Given the description of an element on the screen output the (x, y) to click on. 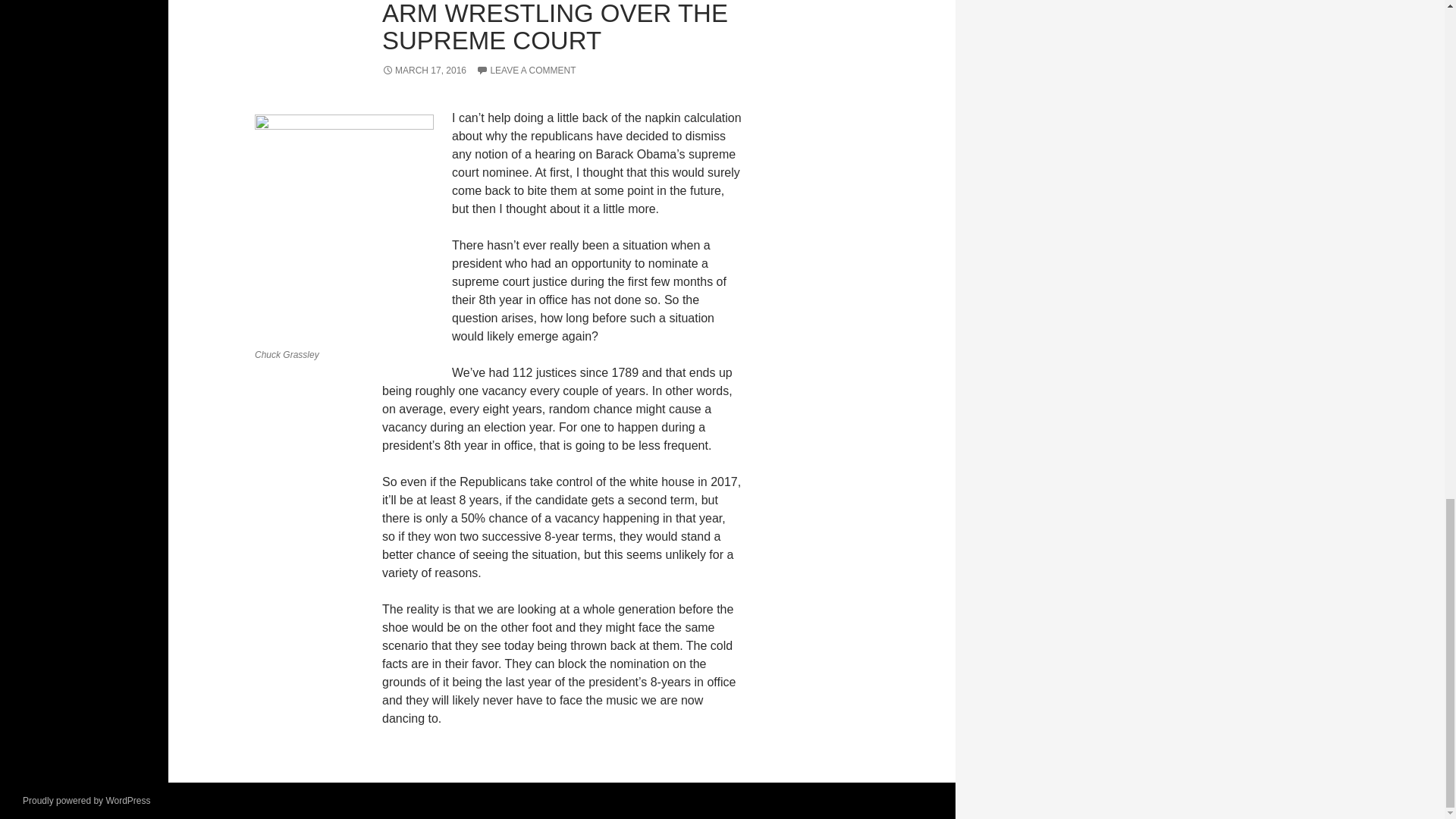
LEAVE A COMMENT (525, 70)
ARM WRESTLING OVER THE SUPREME COURT (554, 27)
MARCH 17, 2016 (423, 70)
